Given the description of an element on the screen output the (x, y) to click on. 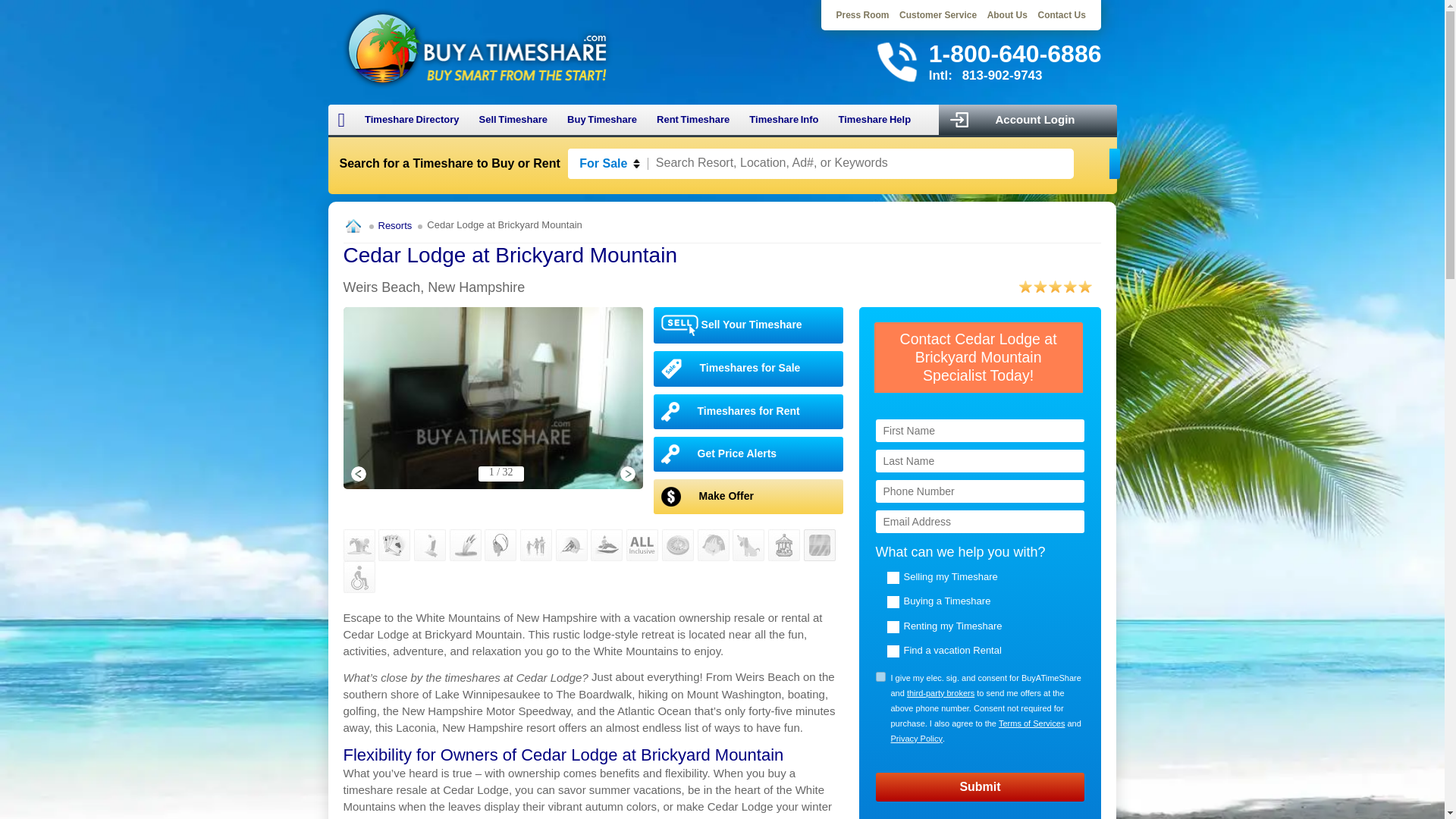
About Us (1007, 14)
First Name (979, 430)
Contact Us (1060, 14)
BuyATimeshare (476, 47)
Timeshare Directory (411, 119)
Phone Number (979, 490)
Submit (979, 787)
1 (880, 676)
Customer Service (937, 14)
checkbox (880, 676)
Sell Cedar Lodge at Brickyard Mountain timeshare (748, 325)
Last Name (979, 460)
Email (979, 521)
Press Room (862, 14)
813-902-9743 (1002, 74)
